Given the description of an element on the screen output the (x, y) to click on. 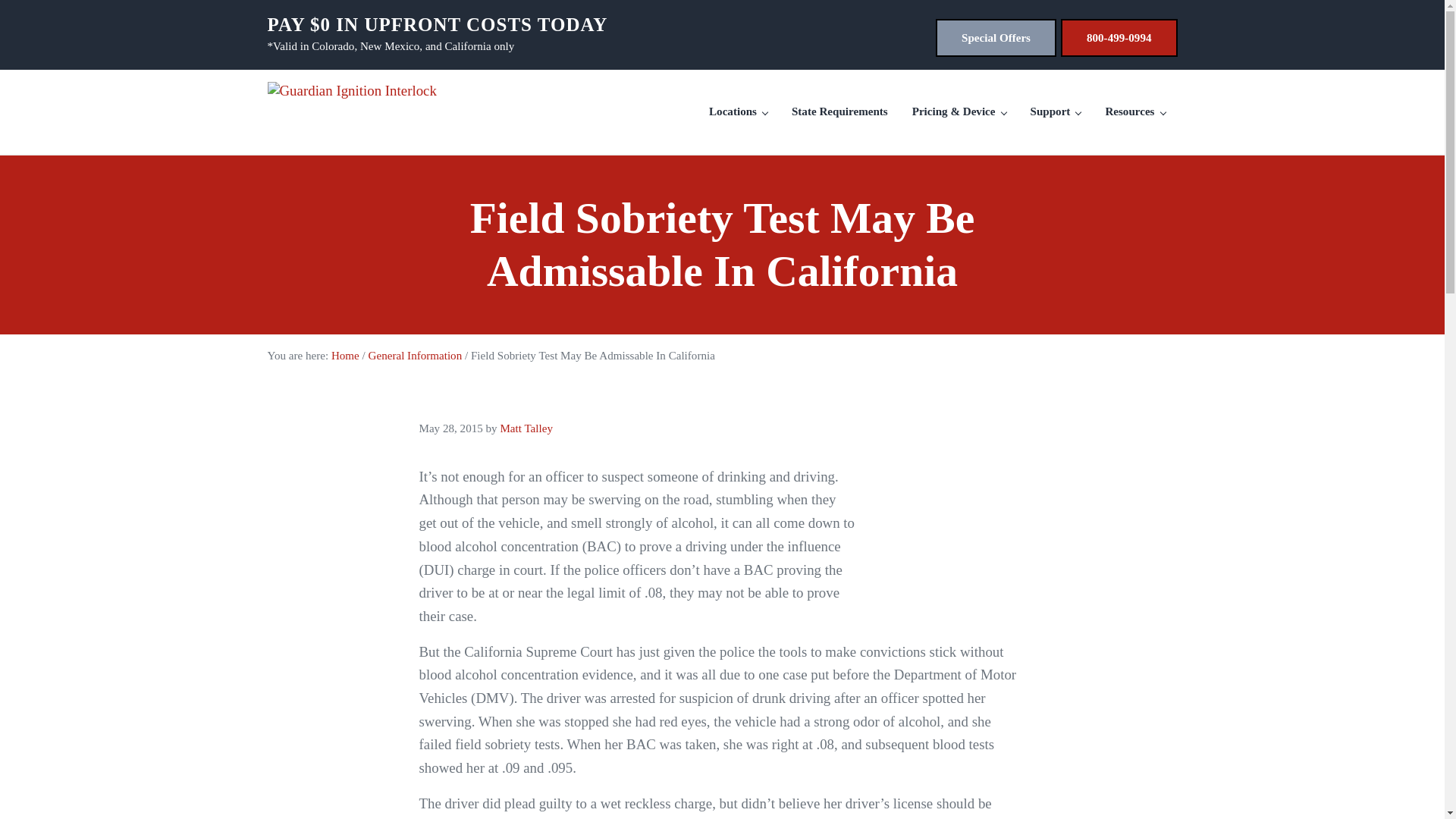
Locations (737, 111)
800-499-0994 (1119, 37)
General Information (415, 355)
Resources (1134, 111)
Support (1055, 111)
Special Offers (996, 37)
Home (345, 355)
Matt Talley (526, 428)
State Requirements (838, 111)
